Given the description of an element on the screen output the (x, y) to click on. 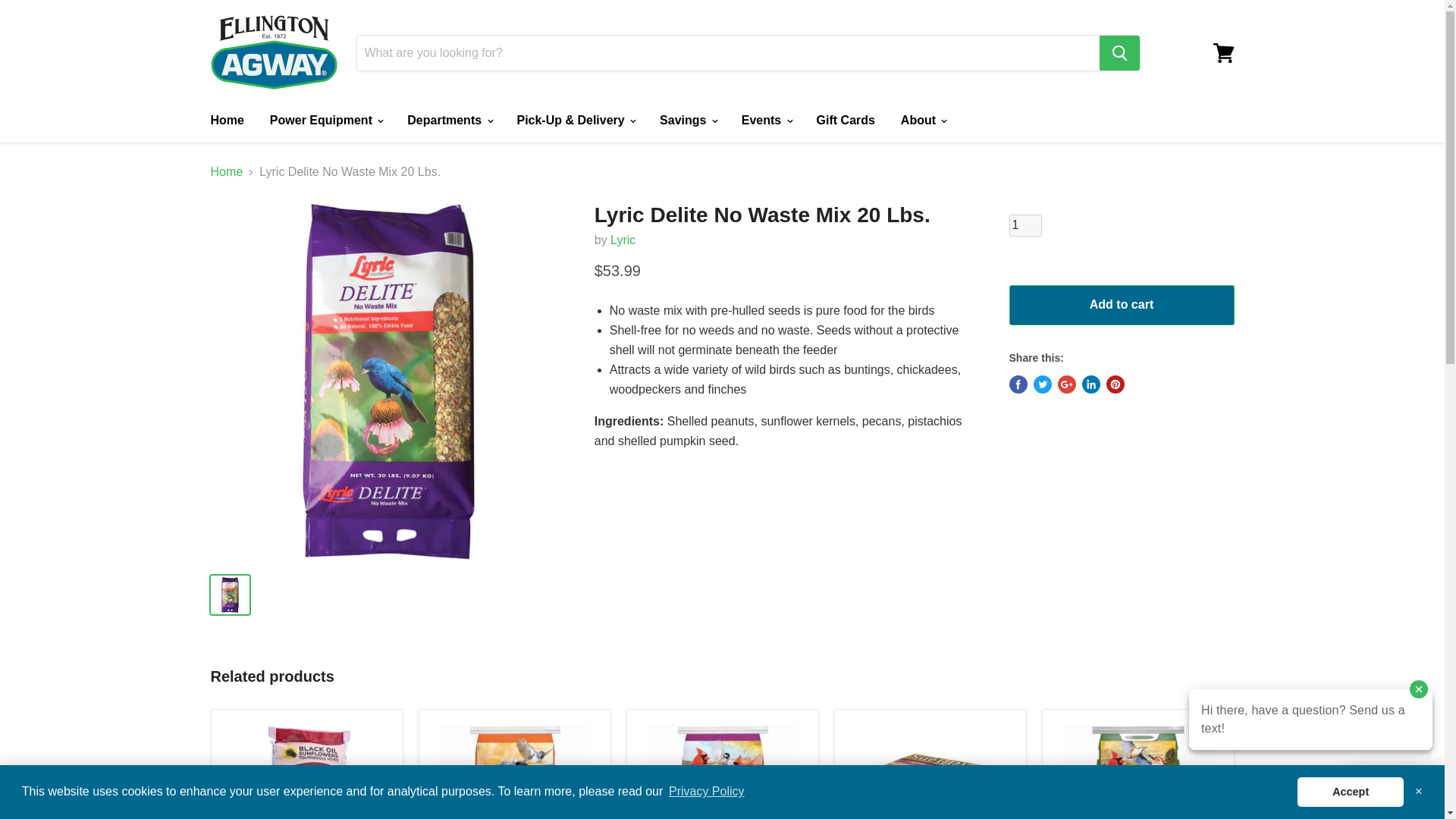
search button (1119, 53)
Accept (1350, 791)
Power Equipment (326, 120)
Departments (449, 120)
Home (226, 120)
View cart (1223, 53)
Lyric (622, 239)
Privacy Policy (706, 791)
1 (1025, 225)
